Given the description of an element on the screen output the (x, y) to click on. 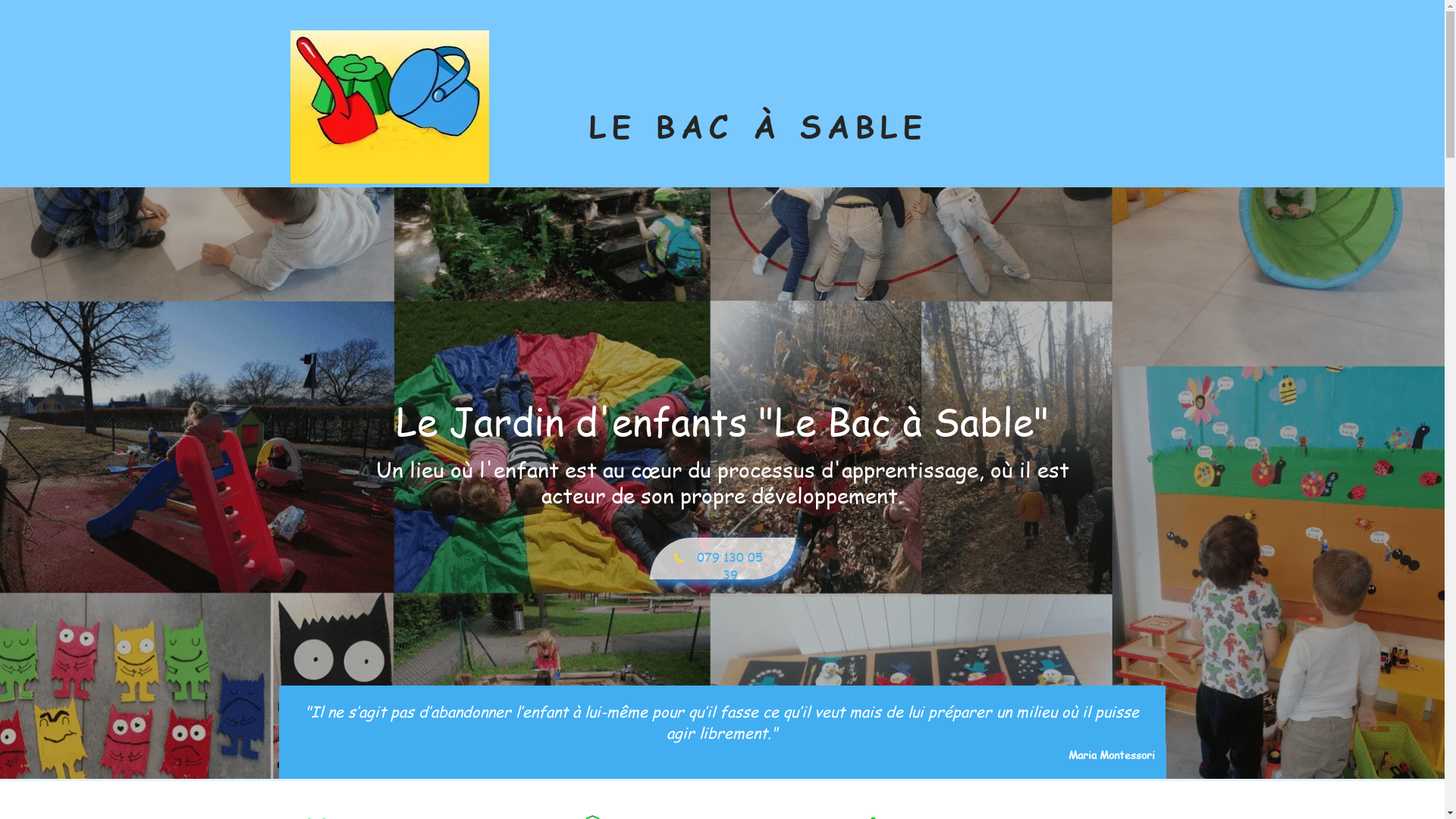
079 130 05 39 Element type: text (721, 558)
